Given the description of an element on the screen output the (x, y) to click on. 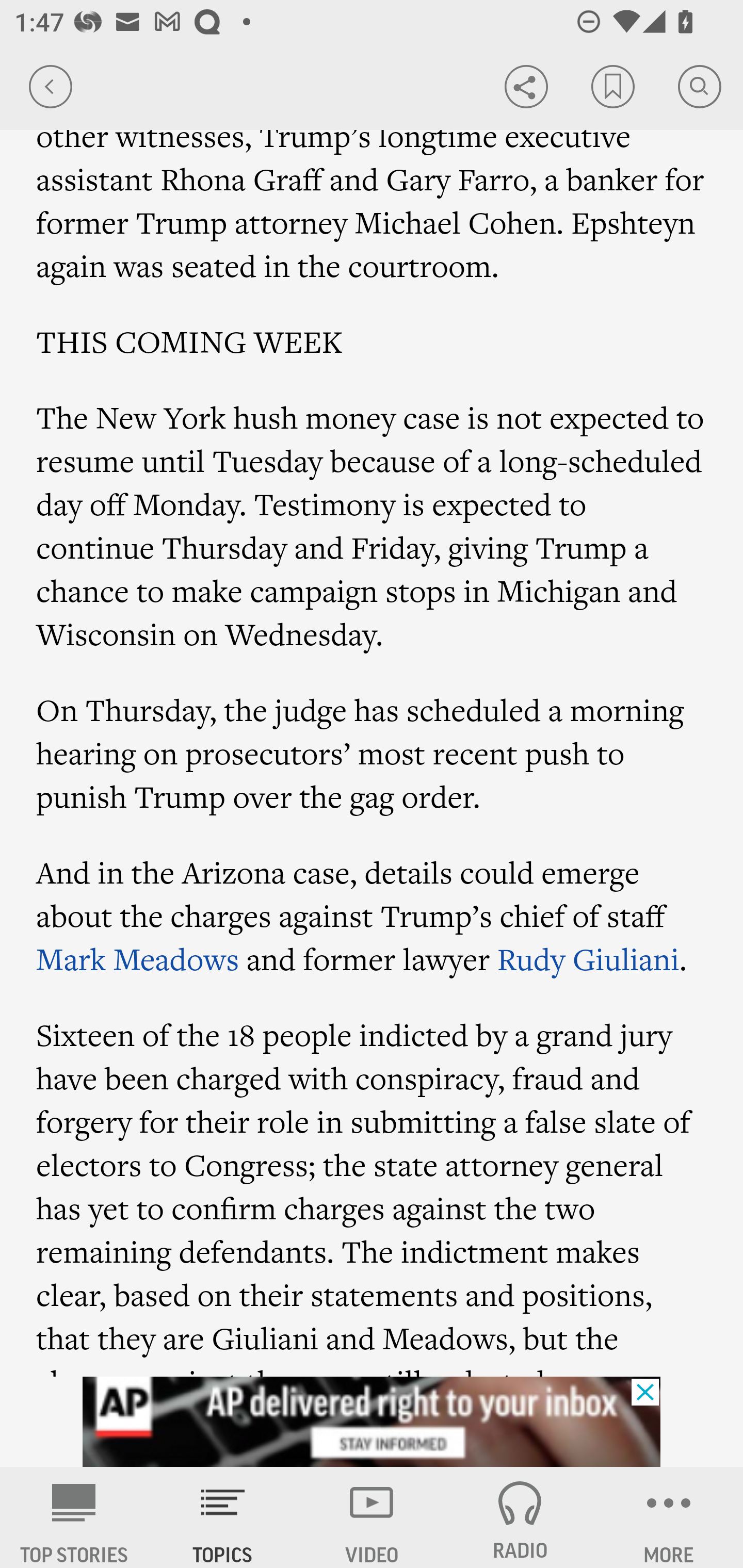
Mark Meadows (137, 957)
Rudy Giuliani (588, 957)
AP News TOP STORIES (74, 1517)
TOPICS (222, 1517)
VIDEO (371, 1517)
RADIO (519, 1517)
MORE (668, 1517)
